Given the description of an element on the screen output the (x, y) to click on. 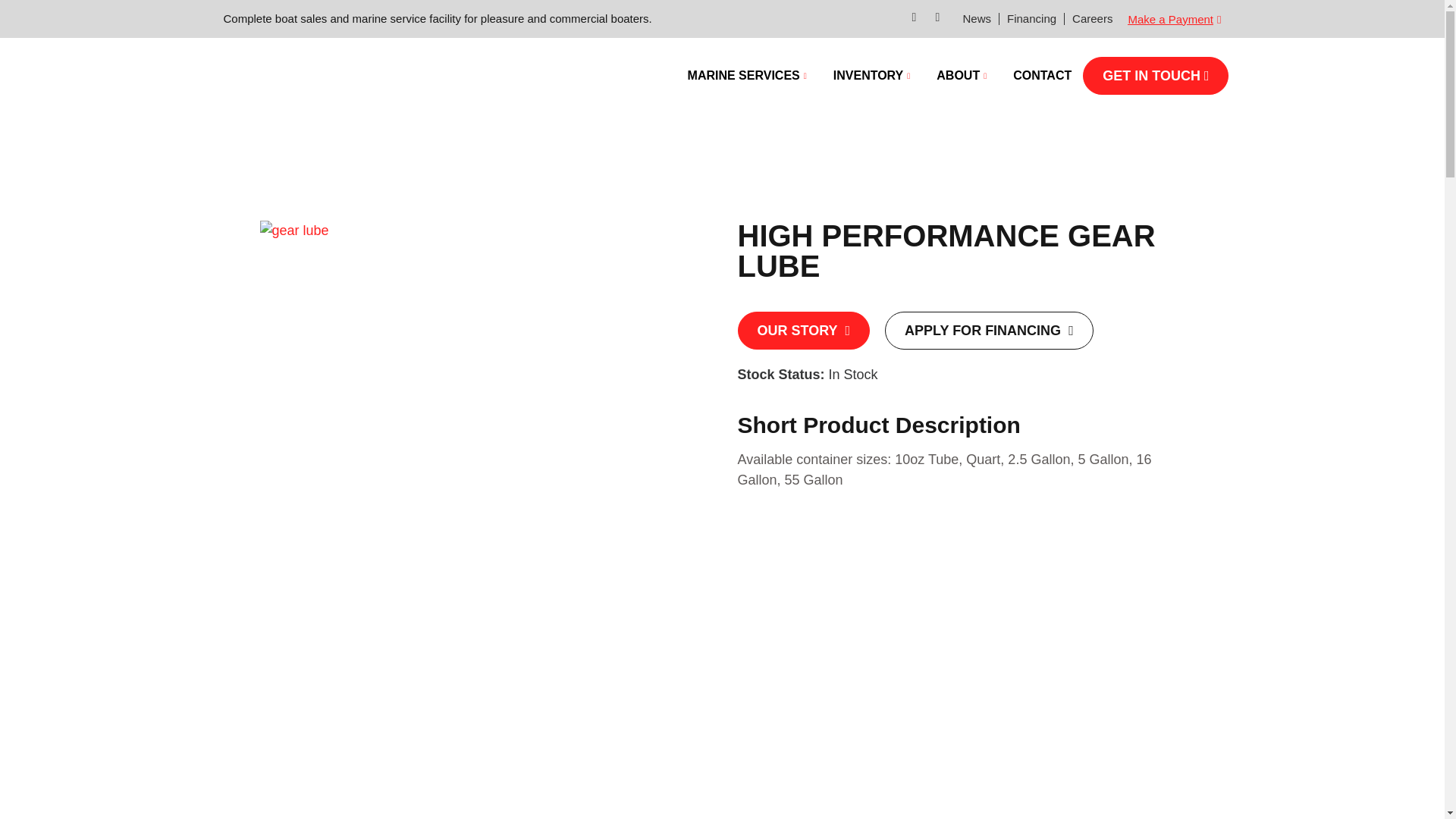
Make a Payment (1173, 19)
Financing (1031, 18)
Careers (1091, 18)
INVENTORY (874, 75)
MARINE SERVICES (749, 75)
News (976, 18)
